Given the description of an element on the screen output the (x, y) to click on. 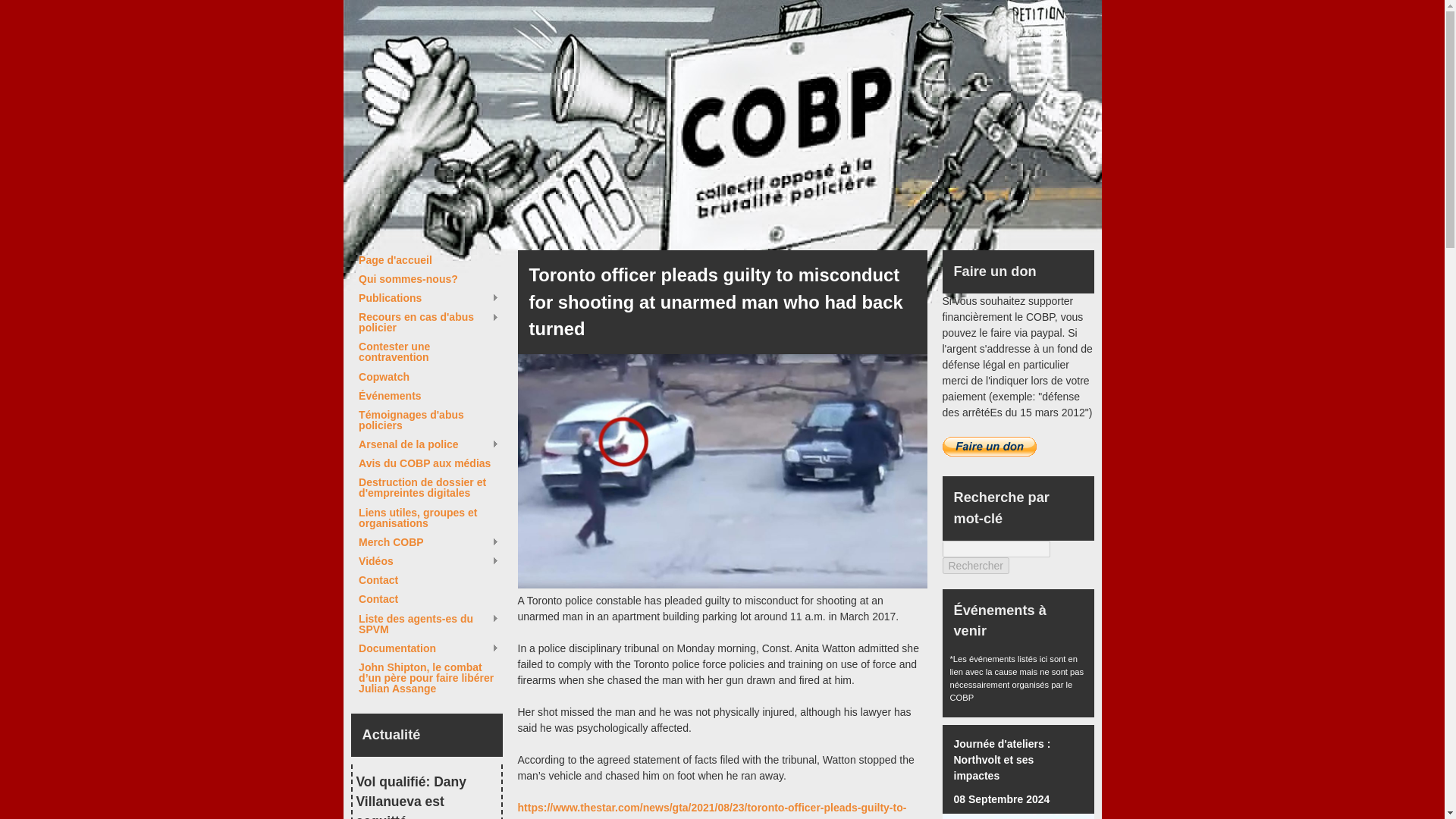
Contester une contravention (428, 351)
Copwatch (428, 376)
Qui sommes-nous? (428, 278)
Rechercher (975, 565)
Page d'accueil (428, 259)
